Given the description of an element on the screen output the (x, y) to click on. 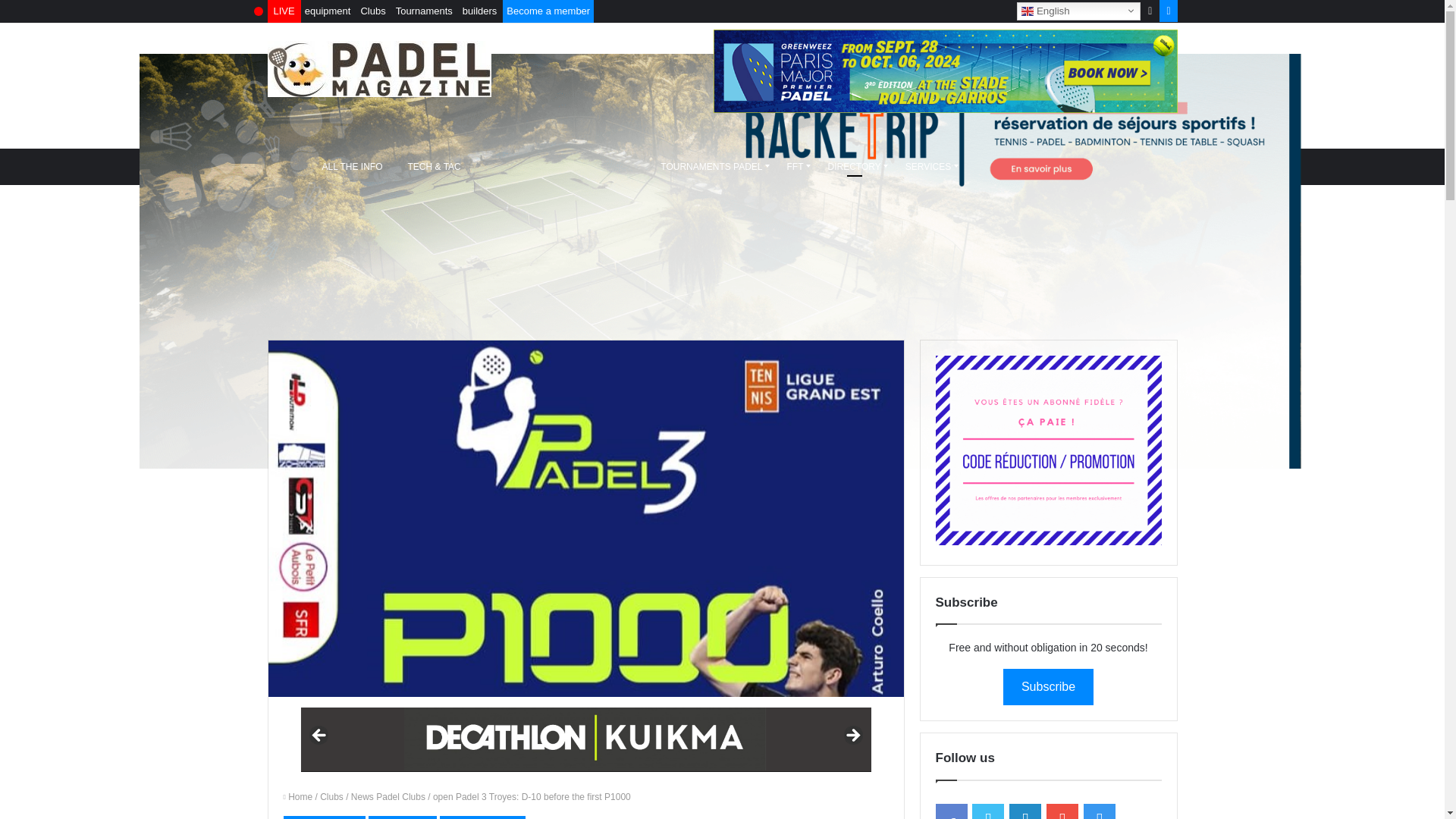
English (1078, 11)
LIVE (283, 11)
Become a member (548, 11)
equipment (328, 11)
Clubs (372, 11)
Tournaments (424, 11)
builders (479, 11)
